Given the description of an element on the screen output the (x, y) to click on. 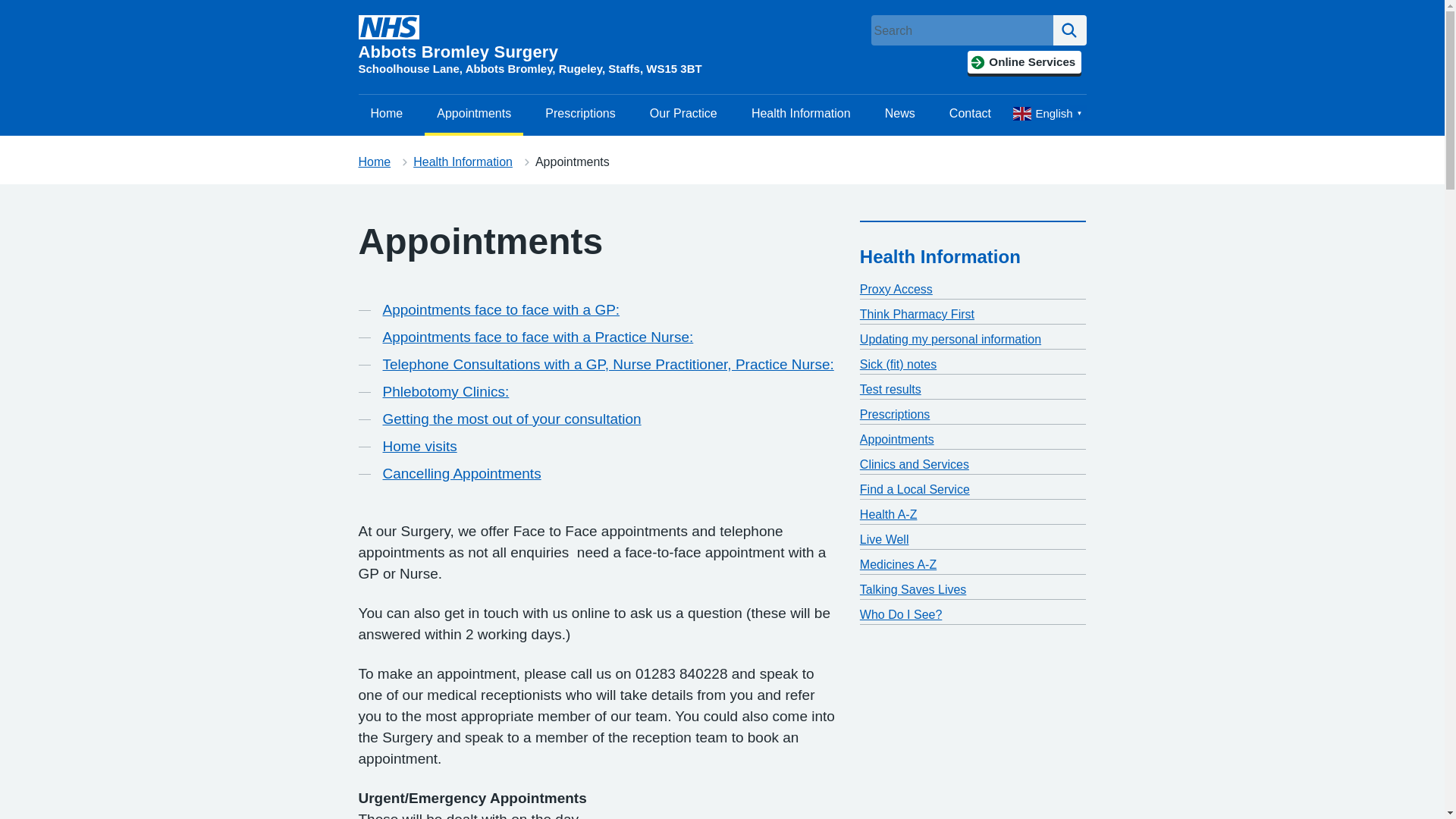
Contact (970, 113)
Appointments face to face with a Practice Nurse: (537, 337)
Prescriptions (579, 113)
Appointments (473, 113)
Health Information (801, 113)
Cancelling Appointments (460, 473)
Phlebotomy Clinics: (444, 391)
Appointments face to face with a GP: (500, 310)
Online Services  (1024, 61)
Home (386, 113)
